Given the description of an element on the screen output the (x, y) to click on. 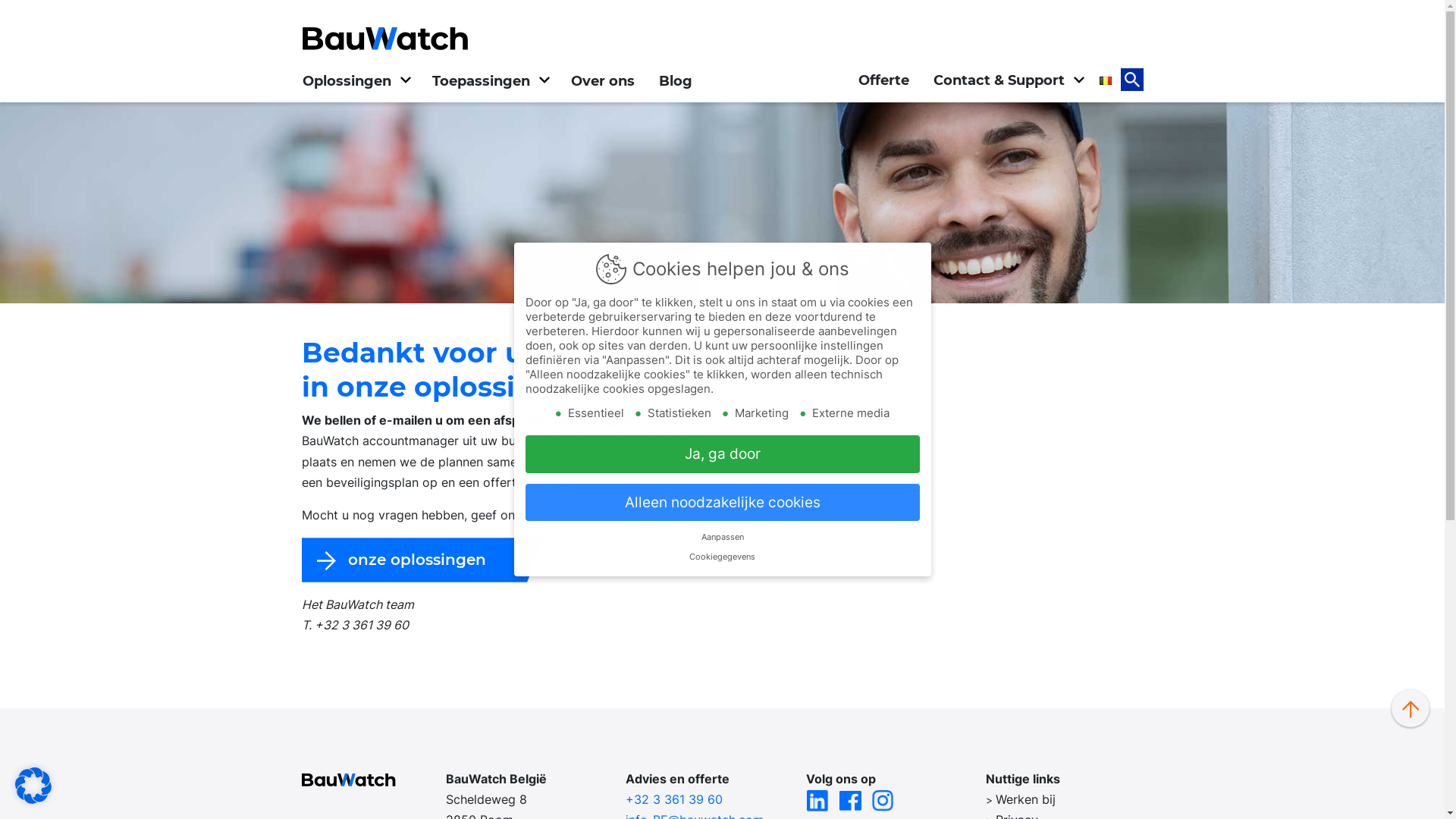
+32 3 361 39 60 Element type: text (673, 798)
Toepassingen Element type: text (489, 81)
Open Cookievoorkeuren Element type: hover (33, 783)
Cookiegegevens Element type: text (722, 556)
Offerte Element type: text (883, 80)
Werken bij Element type: text (1025, 798)
Alleen noodzakelijke cookies Element type: text (721, 501)
Aanpassen Element type: text (721, 536)
Over ons Element type: text (602, 81)
Ja, ga door Element type: text (721, 453)
Contact & Support Element type: text (1006, 80)
Blog Element type: text (674, 81)
onze oplossingen Element type: text (422, 559)
Oplossingen Element type: text (354, 81)
up Element type: text (1410, 707)
